Given the description of an element on the screen output the (x, y) to click on. 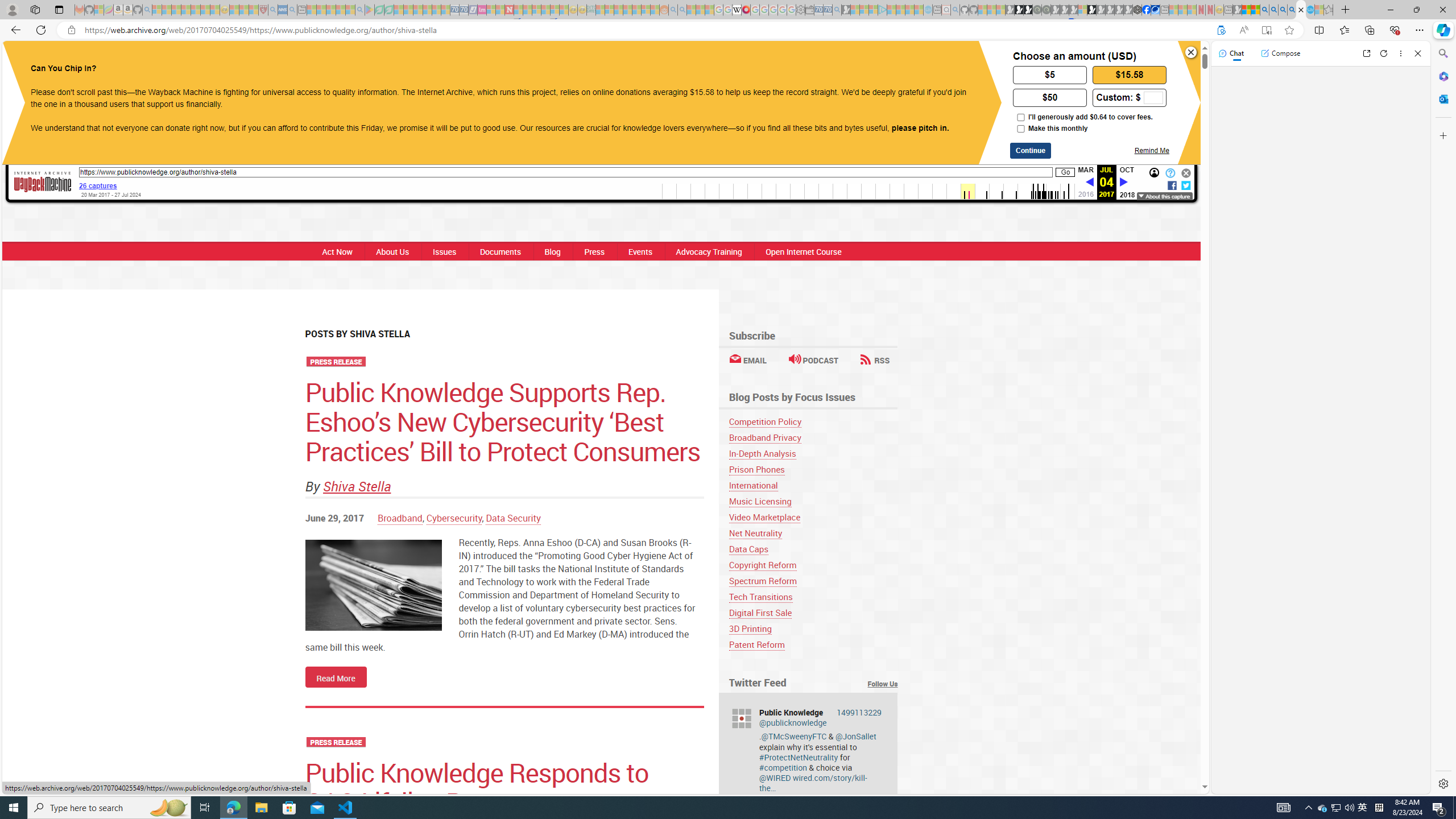
Prison Phones (756, 469)
Target page - Wikipedia (736, 9)
Explore captures for this URL (868, 191)
MediaWiki (745, 9)
